Given the description of an element on the screen output the (x, y) to click on. 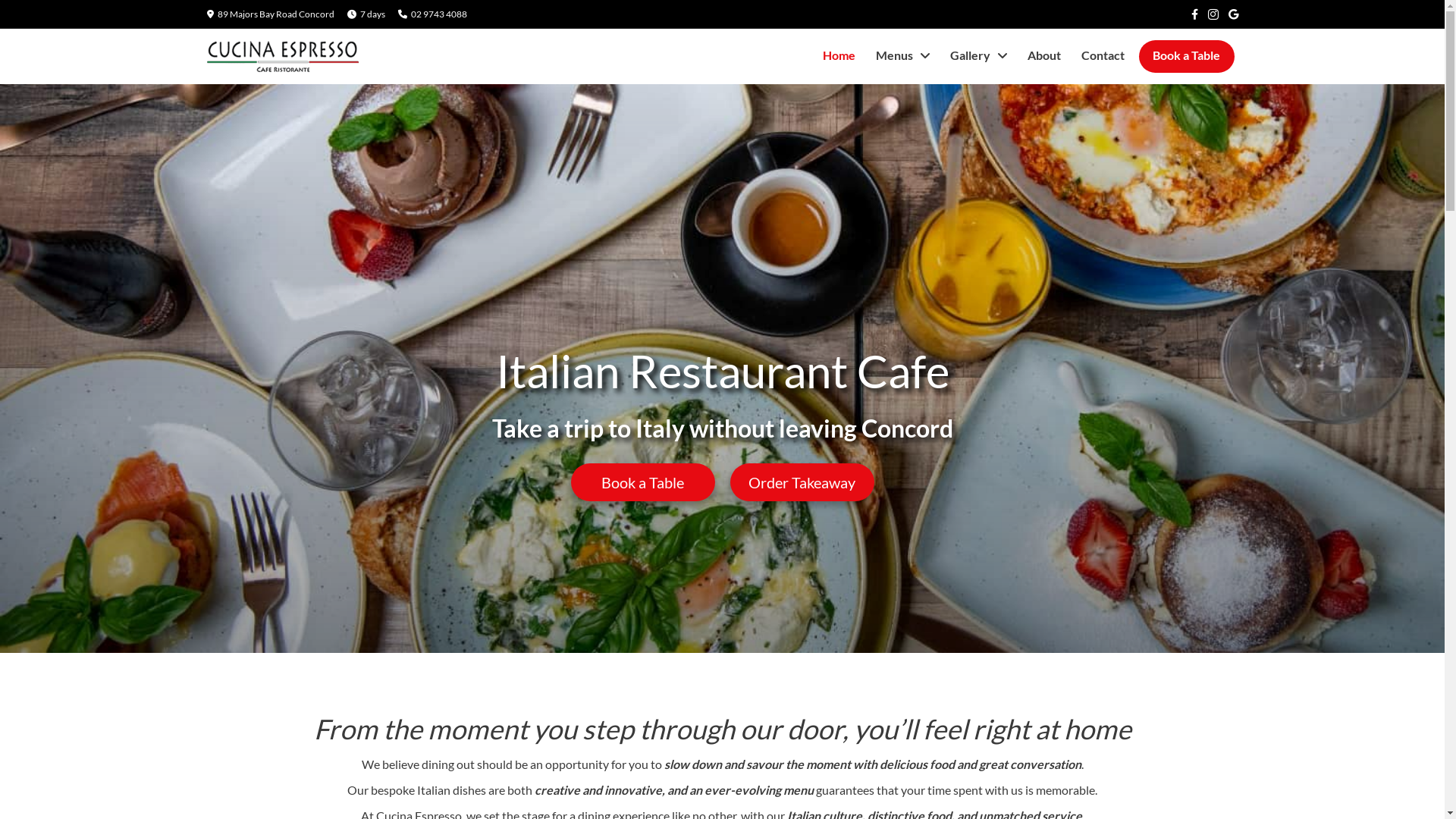
Home Element type: text (838, 55)
89 Majors Bay Road Concord Element type: text (274, 13)
Book a Table Element type: text (642, 482)
Menus Element type: text (902, 55)
Contact Element type: text (1103, 55)
02 9743 4088 Element type: text (439, 13)
Gallery Element type: text (978, 55)
About Element type: text (1043, 55)
Order Takeaway Element type: text (801, 482)
Book a Table Element type: text (1186, 55)
